Given the description of an element on the screen output the (x, y) to click on. 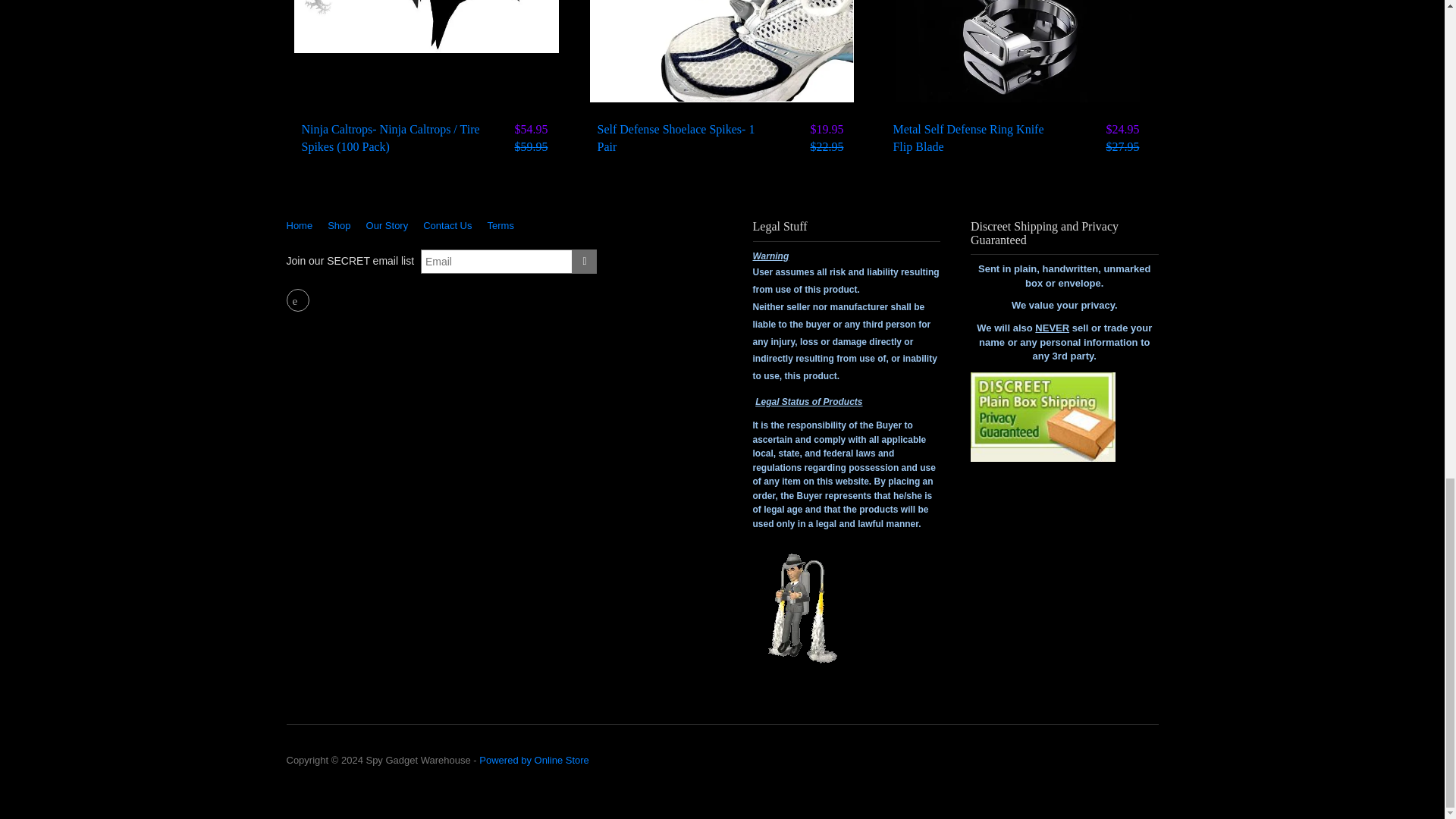
Shop (339, 225)
Terms (500, 225)
Contact Us (446, 225)
Home (303, 225)
Our Story (387, 225)
